Given the description of an element on the screen output the (x, y) to click on. 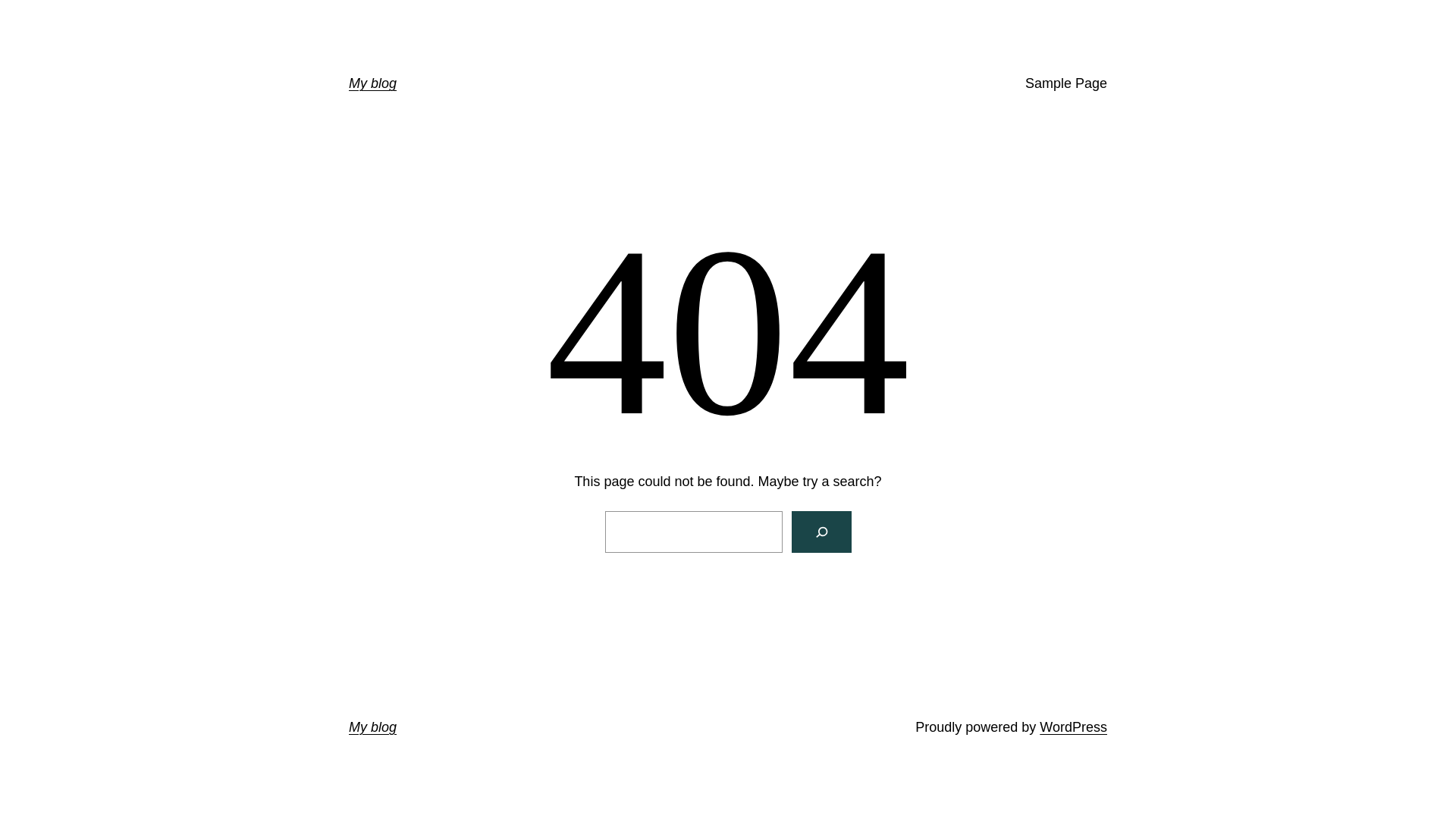
Sample Page Element type: text (1066, 83)
WordPress Element type: text (1073, 726)
My blog Element type: text (372, 83)
My blog Element type: text (372, 726)
